Given the description of an element on the screen output the (x, y) to click on. 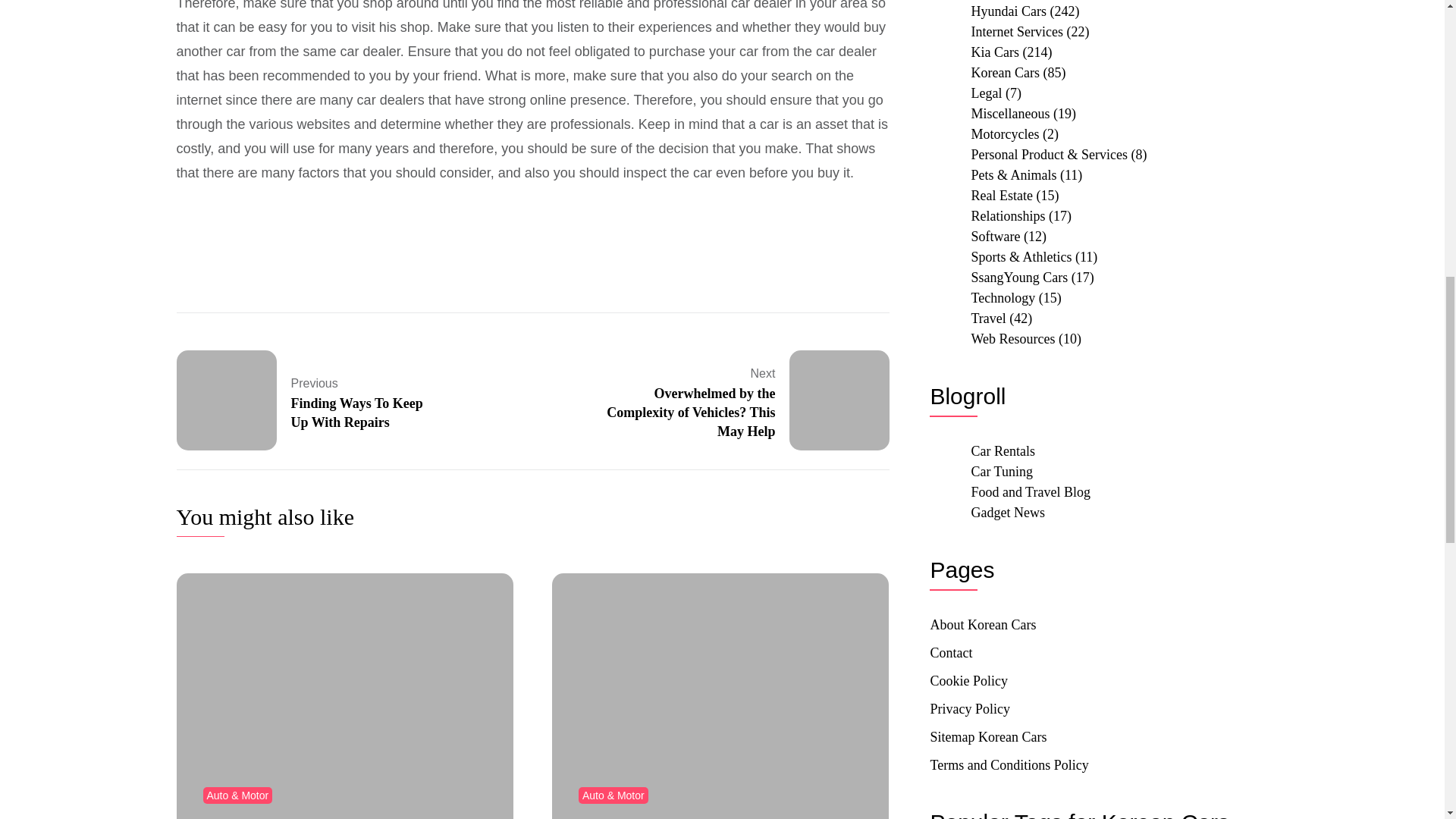
Gadget News (307, 400)
Food and Travel Blog (1007, 512)
Car Tuning and Modified Car News (1030, 491)
Car Rentals (1001, 471)
